Given the description of an element on the screen output the (x, y) to click on. 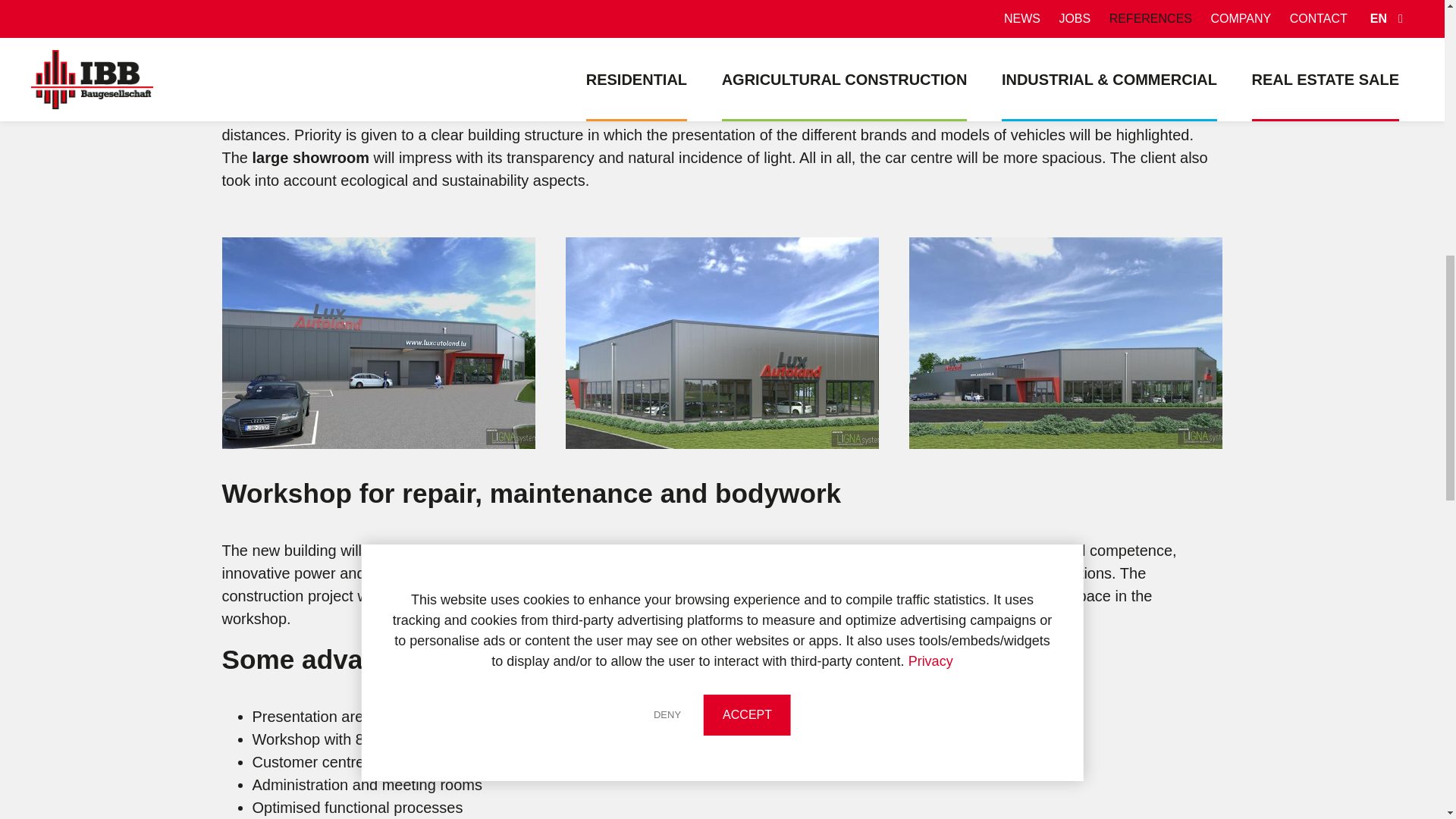
New automobile centre with spacious showroom (722, 342)
Lux-Autoland - A completely new company building (1065, 342)
Car showroom, mechanical workshop, exterior surfaces (377, 342)
